Given the description of an element on the screen output the (x, y) to click on. 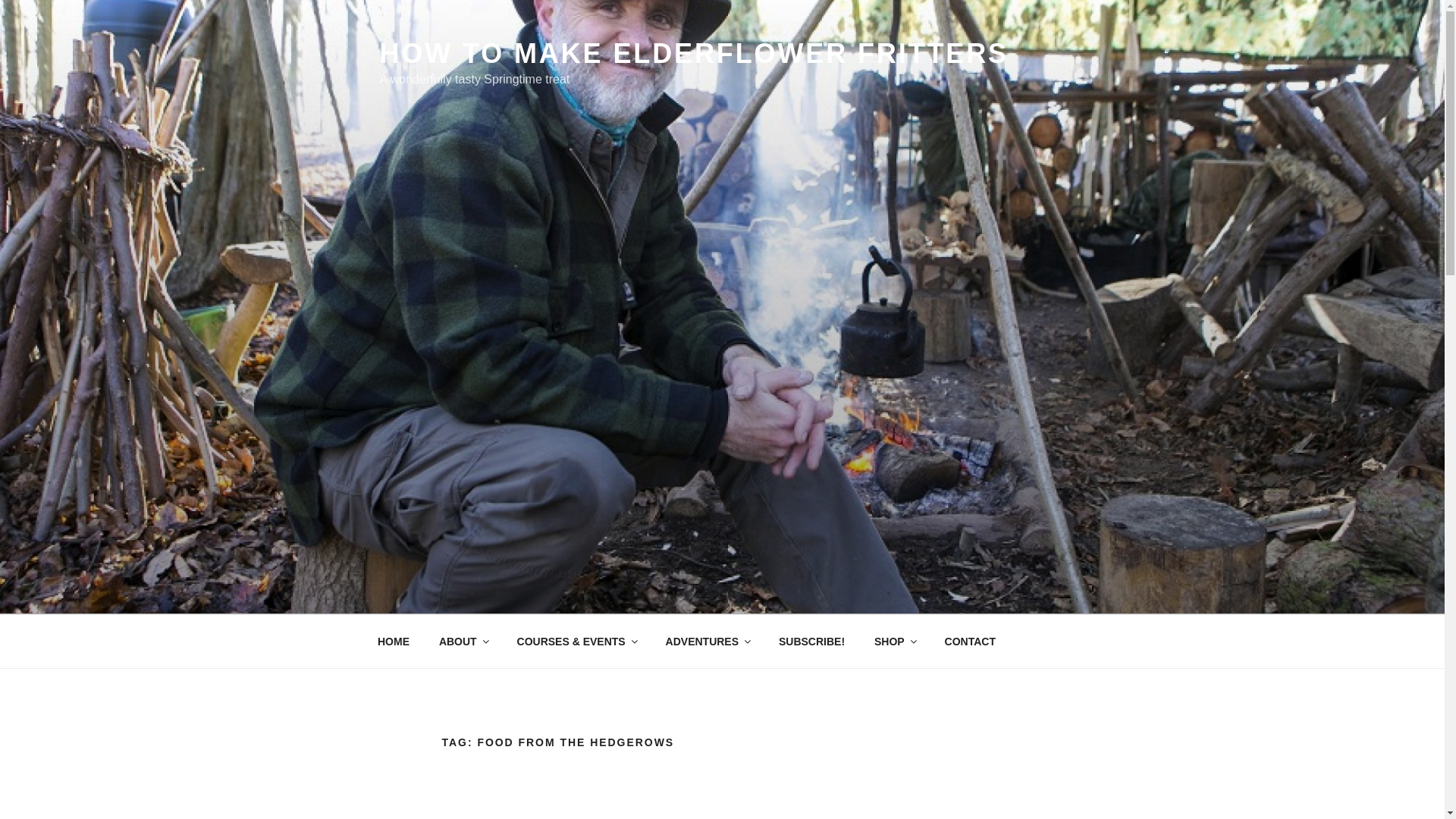
CONTACT (970, 641)
Bushcraft in The Chilterns (576, 641)
SUBSCRIBE! (811, 641)
About David Willis (462, 641)
ABOUT (462, 641)
Bushcraft Courses and Gift Vouchers (894, 641)
ADVENTURES (706, 641)
Bushcraft with David Willis (393, 641)
SHOP (894, 641)
HOME (393, 641)
